Given the description of an element on the screen output the (x, y) to click on. 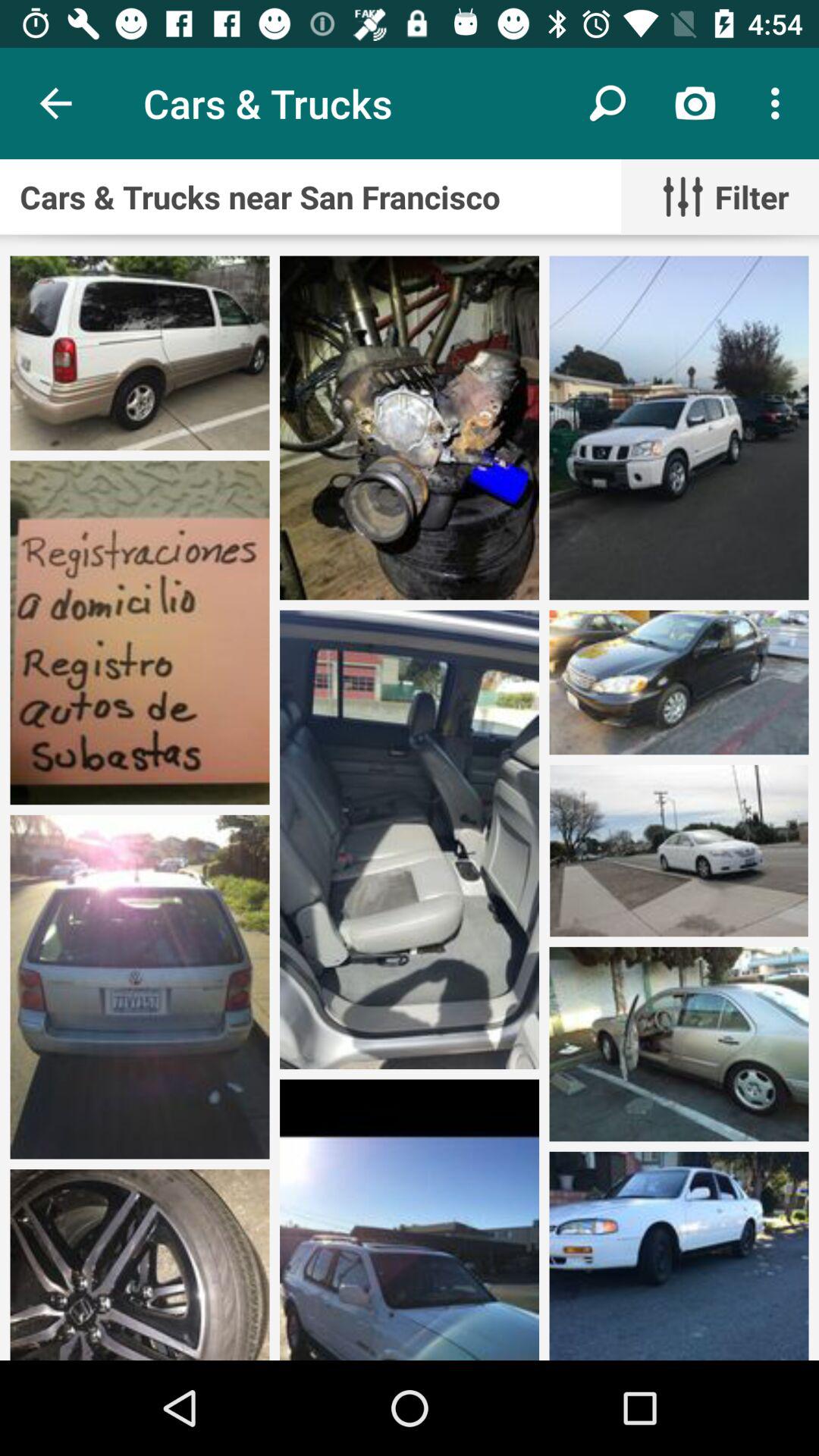
tap the filter item (720, 196)
